Given the description of an element on the screen output the (x, y) to click on. 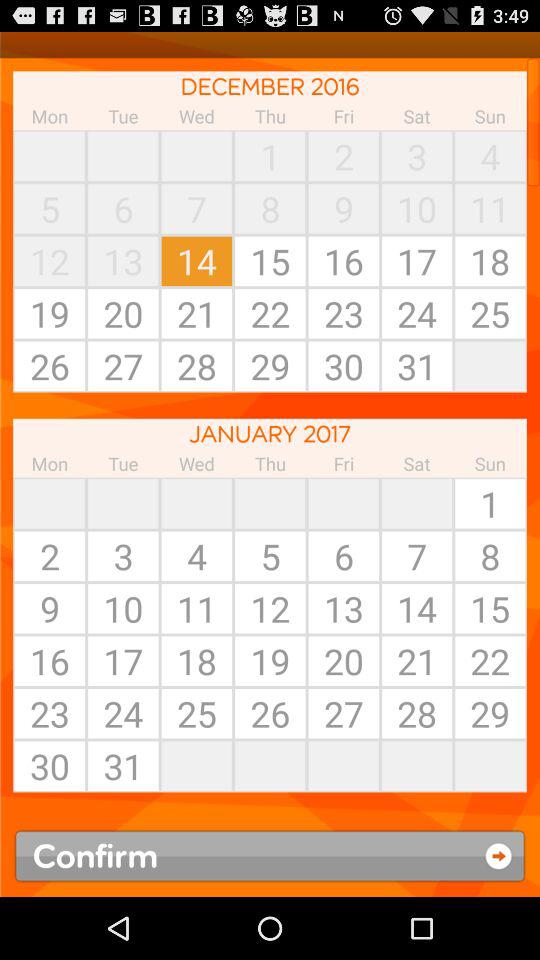
select the date 9 of january (49, 607)
select the date 21 of january (416, 661)
click the number 27 which is on tuesday (123, 365)
select the date 3 from month january 2017 (123, 555)
